Given the description of an element on the screen output the (x, y) to click on. 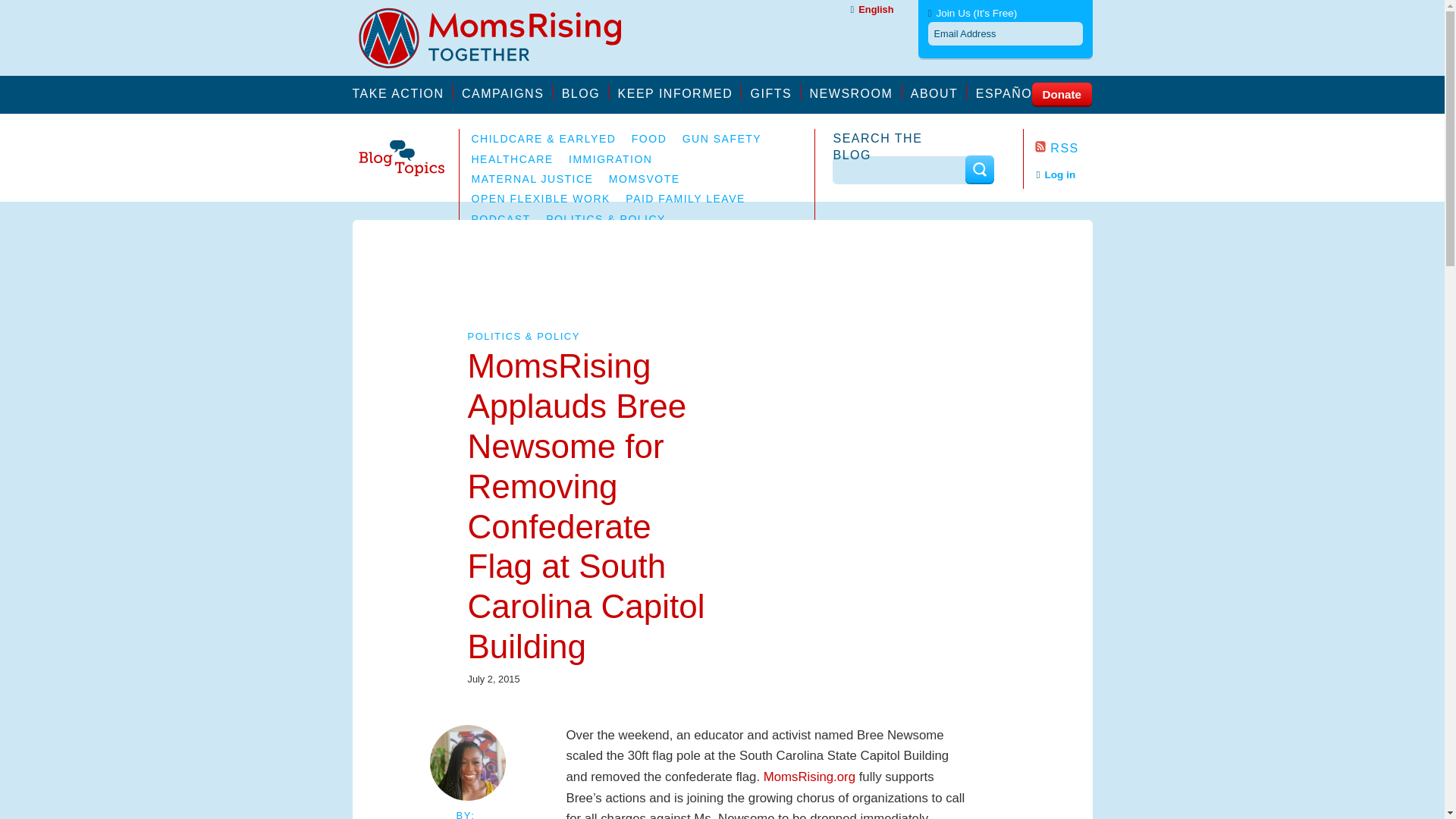
NEWSROOM (855, 91)
Log in (1055, 174)
BLOG (586, 91)
IMMIGRATION (610, 159)
OPEN FLEXIBLE WORK (540, 198)
Enter the terms you wish to search for. (900, 170)
GUN SAFETY (721, 138)
Learn more about our work and get involved (507, 91)
Voices of the MomsRising community (586, 91)
Donate (1060, 92)
Email Address (1005, 33)
TAKE ACTION (402, 91)
MOMSVOTE (643, 178)
GIFTS (776, 91)
